Given the description of an element on the screen output the (x, y) to click on. 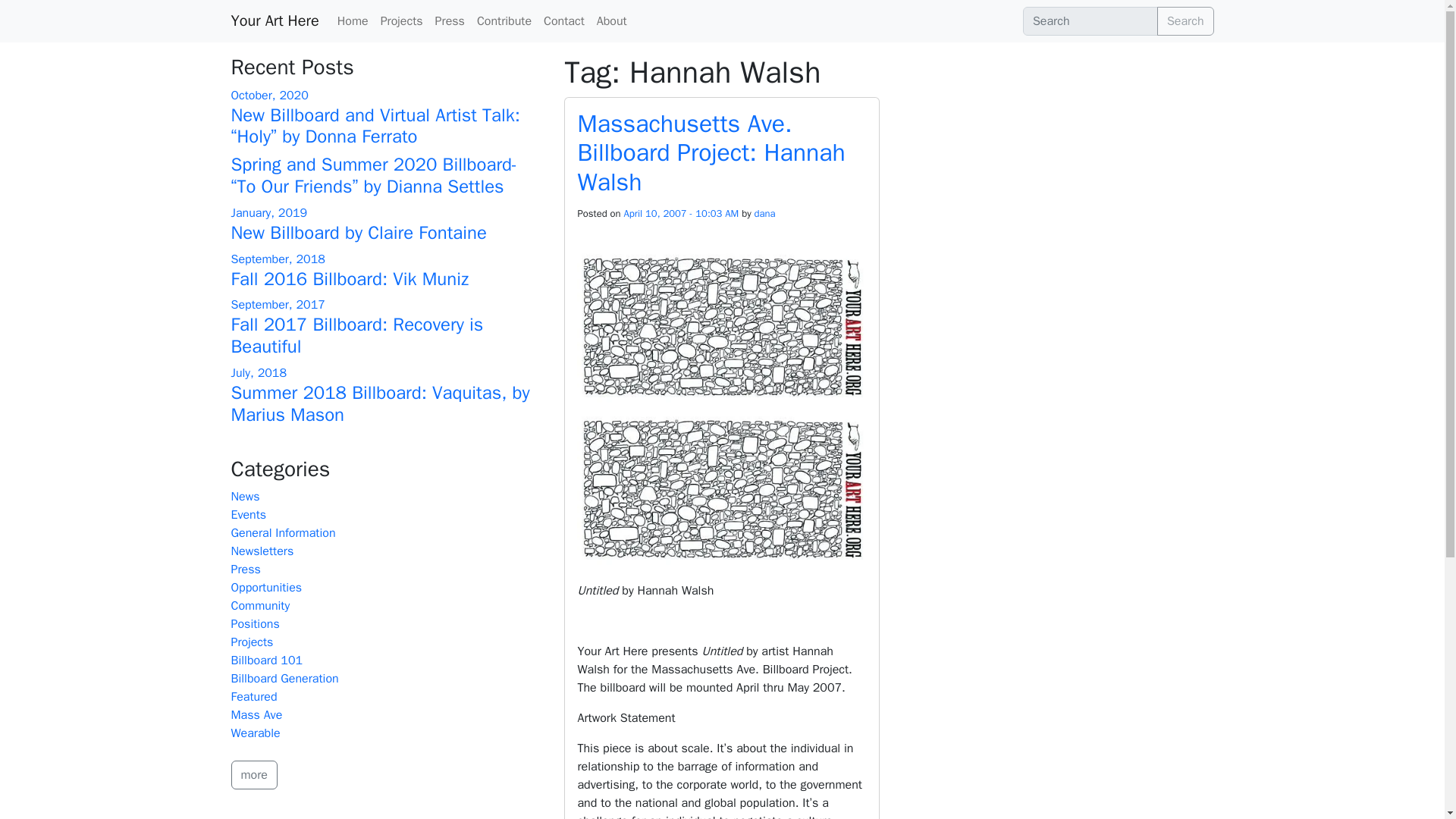
September, 2018 (277, 258)
Your Art Here (274, 20)
Featured (253, 696)
Opportunities (265, 587)
Your Art Here (274, 20)
View all posts by dana (764, 213)
Contact (564, 20)
Positions (254, 623)
October, 2020 (268, 95)
Press (449, 20)
Billboard Generation (283, 678)
Events (248, 514)
Projects (401, 20)
Newsletters (262, 550)
Contribute (503, 20)
